Given the description of an element on the screen output the (x, y) to click on. 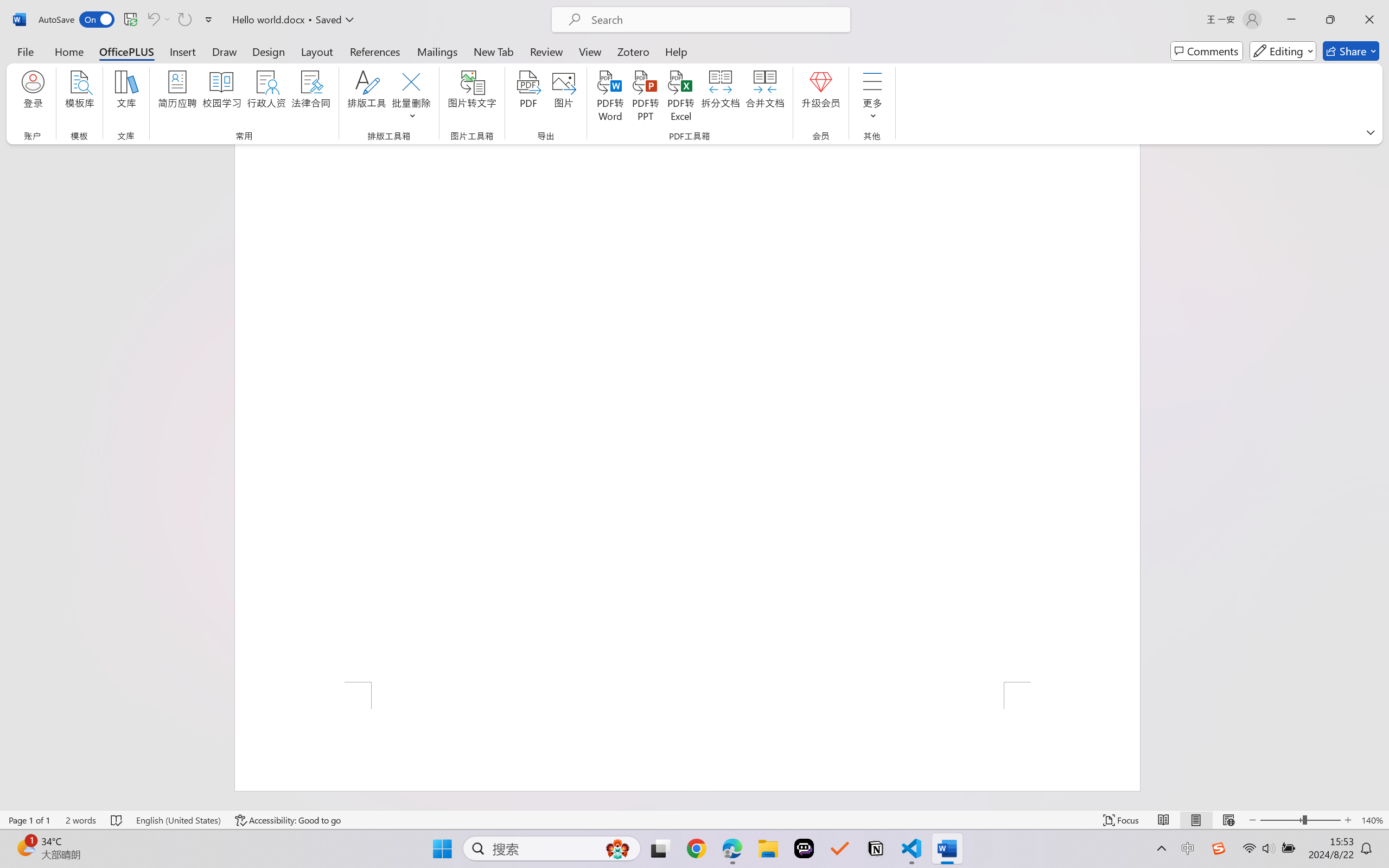
AutomationID: BadgeAnchorLargeTicker (24, 847)
Minimize (1291, 19)
Poe (804, 848)
Class: Image (1218, 847)
Language English (United States) (178, 819)
References (375, 51)
Layout (316, 51)
Can't Undo (158, 19)
Focus  (1121, 819)
Read Mode (1163, 819)
File Tab (24, 51)
